Given the description of an element on the screen output the (x, y) to click on. 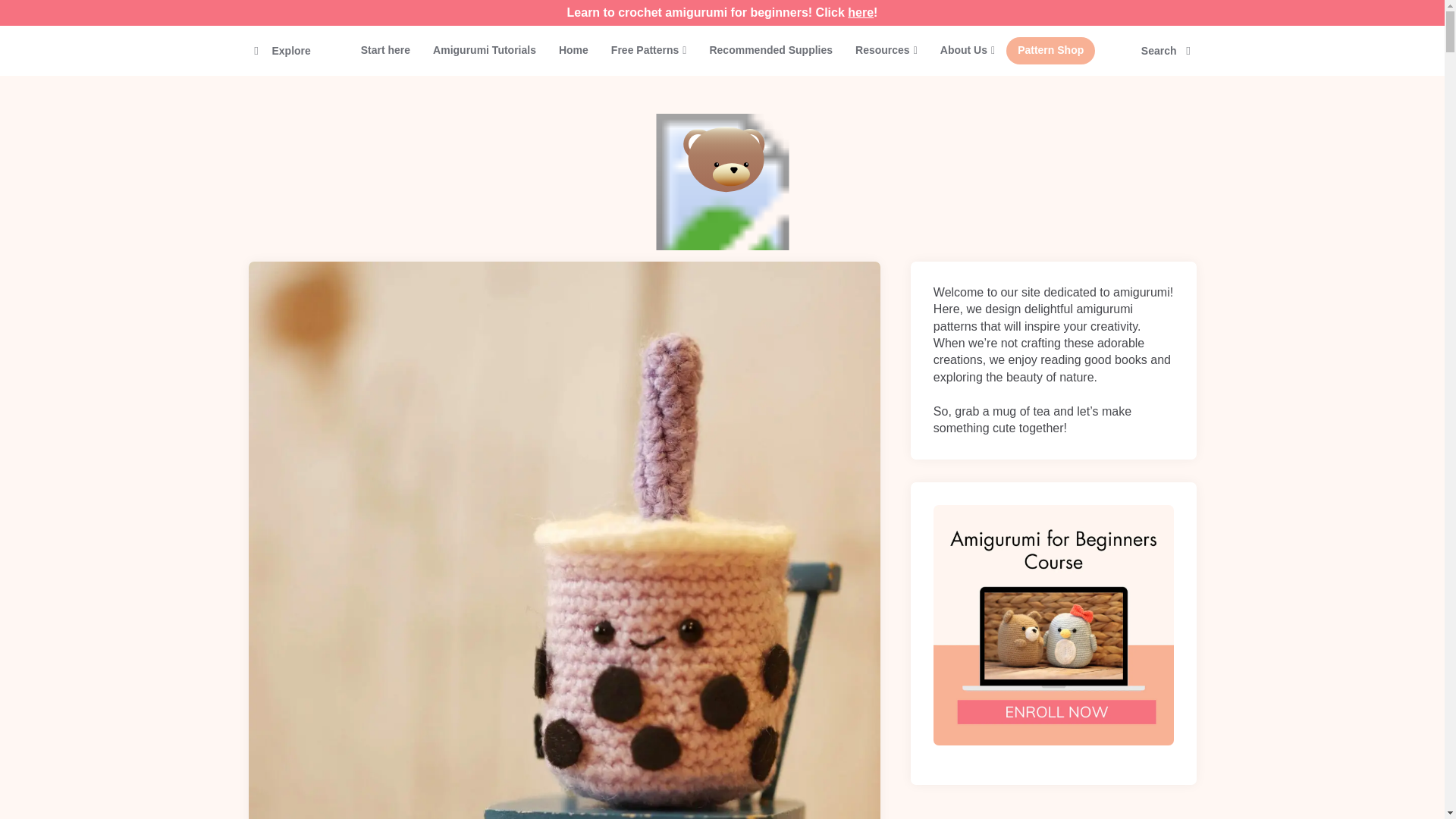
Learn to crochet amigurumi for beginners! Click here! (722, 11)
Resources (886, 50)
Recommended Supplies (770, 50)
Start here (385, 50)
Pattern Shop (1050, 49)
Amigurumi Tutorials (484, 50)
Home (573, 50)
About Us (967, 50)
Free Patterns (648, 50)
